Given the description of an element on the screen output the (x, y) to click on. 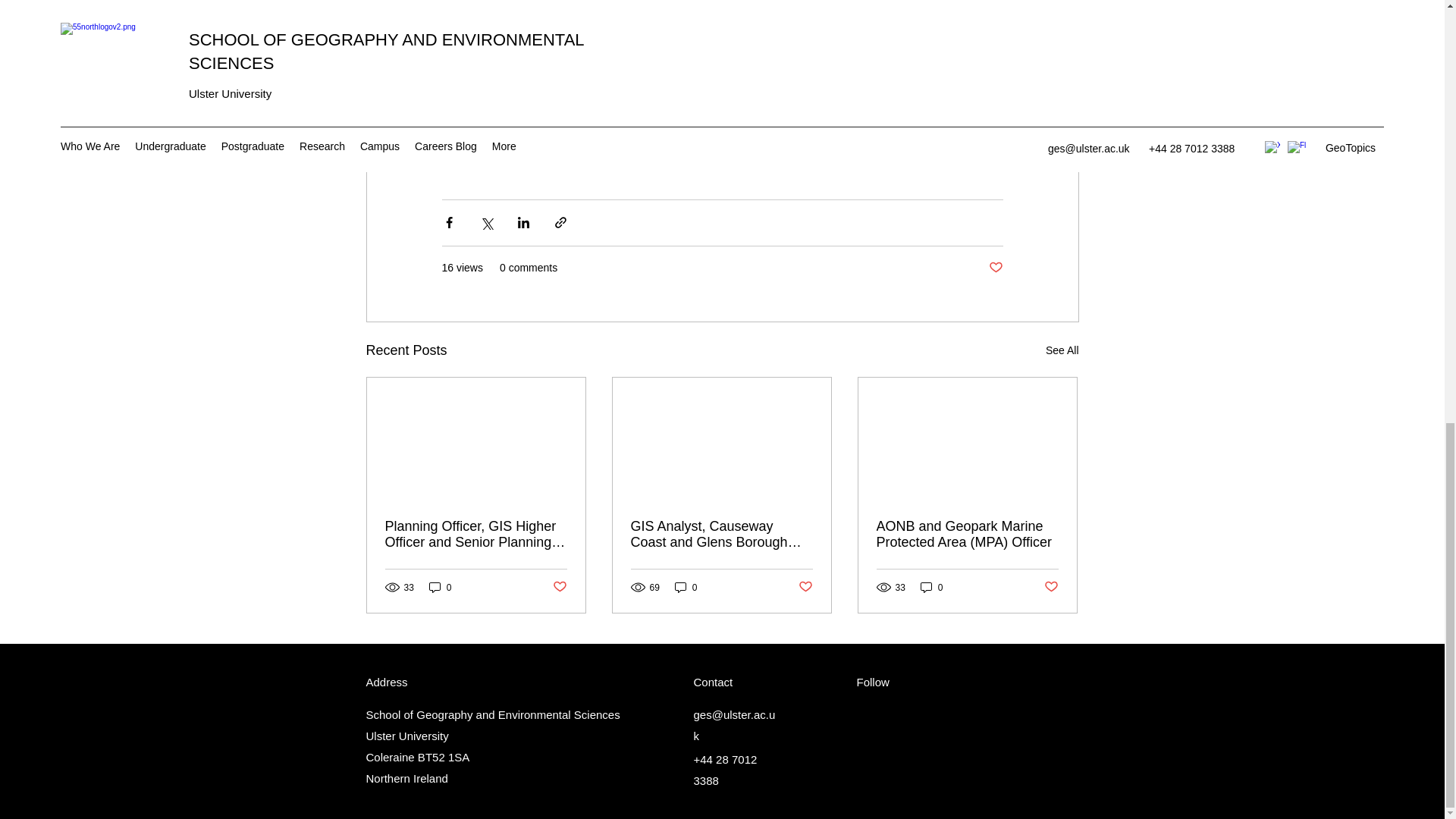
0 (440, 586)
GIS Analyst, Causeway Coast and Glens Borough Council (721, 534)
Post not marked as liked (804, 587)
Post not marked as liked (1050, 587)
See All (1061, 350)
0 (931, 586)
Post not marked as liked (995, 268)
0 (685, 586)
here (766, 109)
Post not marked as liked (558, 587)
